Given the description of an element on the screen output the (x, y) to click on. 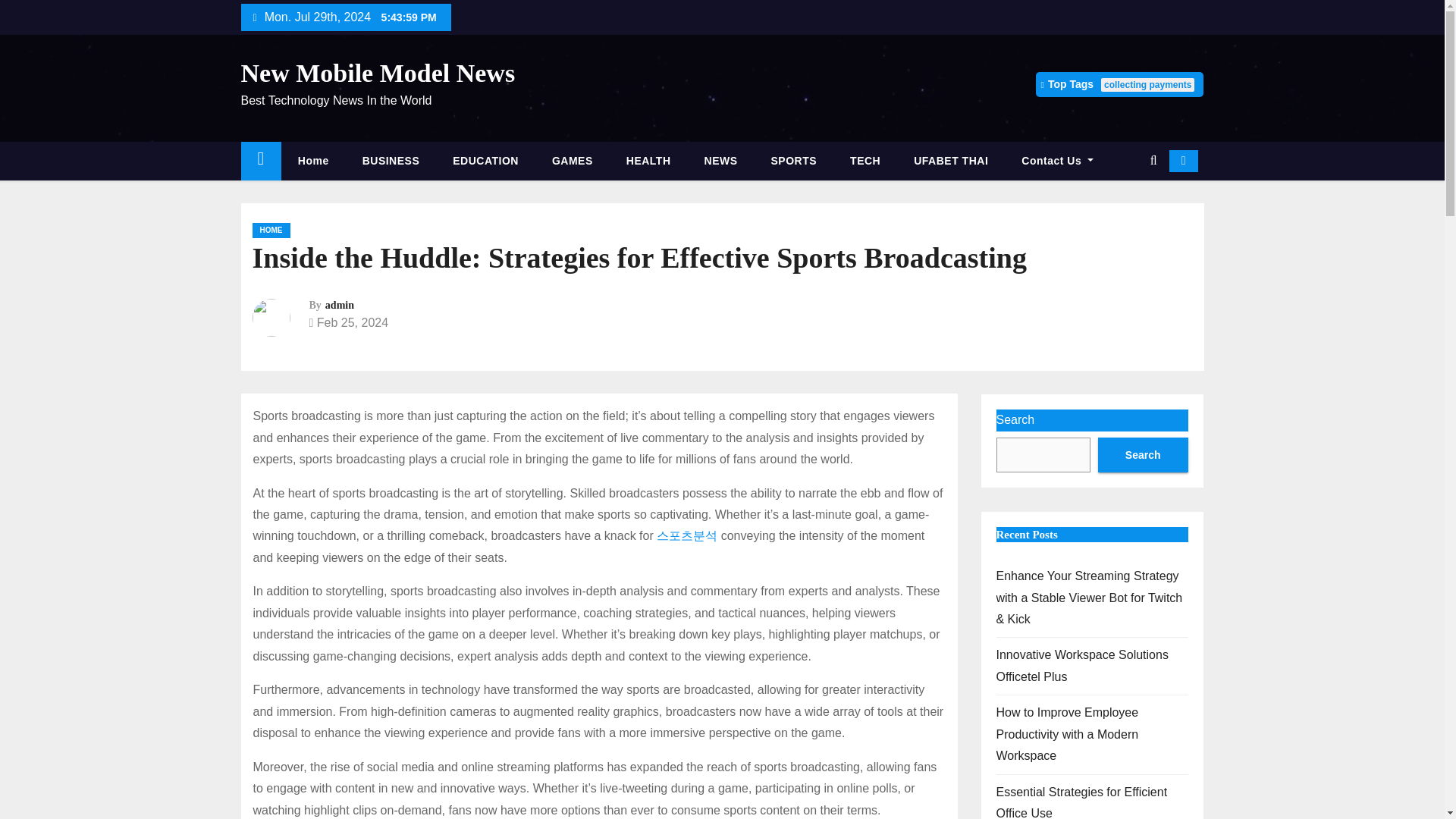
New Mobile Model News (378, 72)
Home (261, 160)
SPORTS (794, 160)
Contact Us (1056, 160)
collecting payments (1146, 84)
EDUCATION (485, 160)
UFABET THAI (950, 160)
HOME (270, 230)
HEALTH (648, 160)
Home (313, 160)
TECH (864, 160)
EDUCATION (485, 160)
Contact Us (1056, 160)
UFABET THAI (950, 160)
TECH (864, 160)
